Given the description of an element on the screen output the (x, y) to click on. 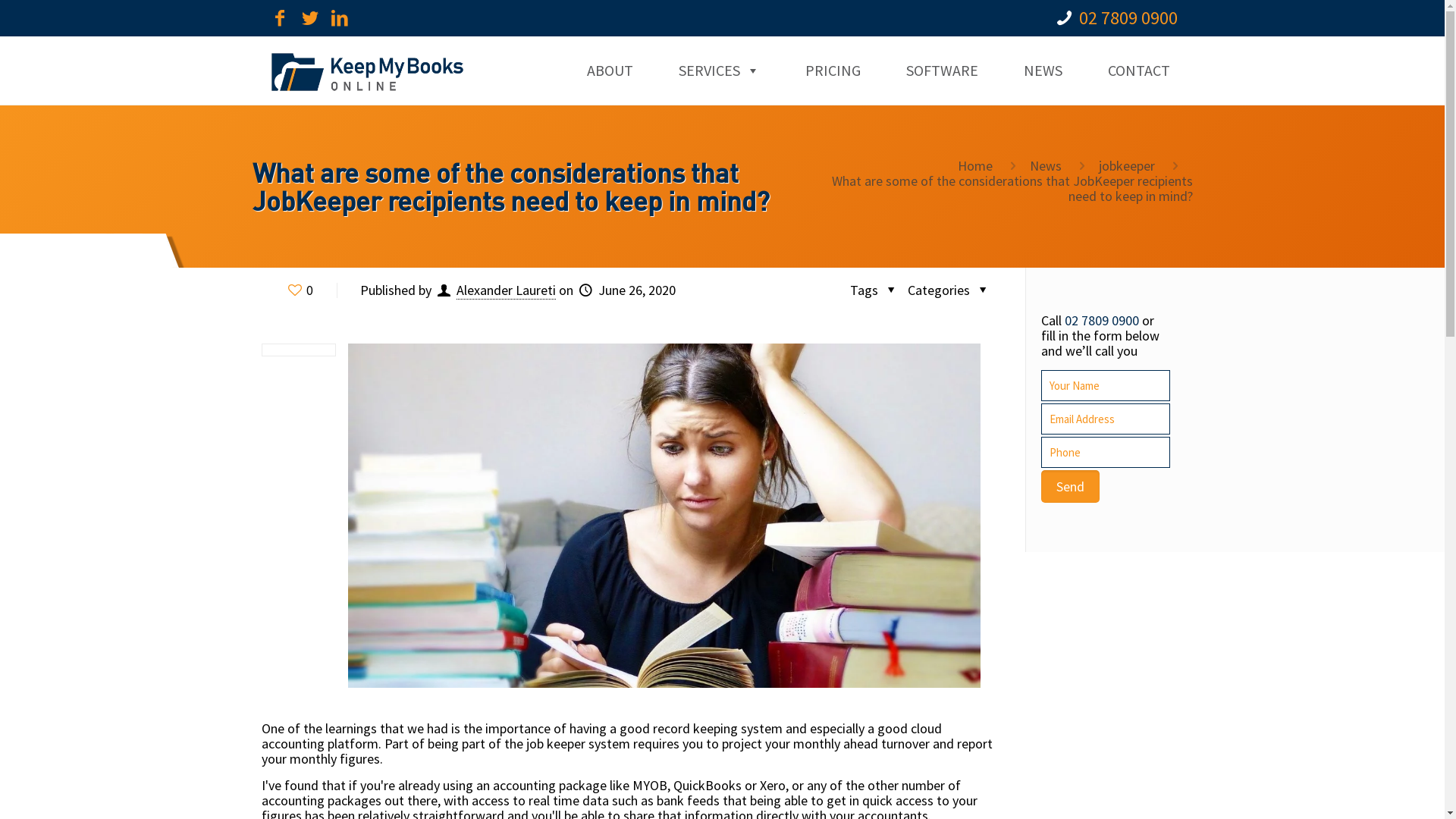
Twitter Element type: hover (310, 19)
KeepMyBooksOnline Element type: hover (366, 70)
0 Element type: text (298, 290)
Send Element type: text (1069, 486)
NEWS Element type: text (1043, 70)
SERVICES Element type: text (718, 70)
News Element type: text (1045, 165)
CONTACT Element type: text (1138, 70)
jobkeeper Element type: text (1126, 165)
PRICING Element type: text (832, 70)
02 7809 0900 Element type: text (1101, 320)
LinkedIn Element type: hover (340, 19)
Alexander Laureti Element type: text (505, 290)
02 7809 0900 Element type: text (1127, 17)
ABOUT Element type: text (609, 70)
SOFTWARE Element type: text (941, 70)
Facebook Element type: hover (279, 19)
Home Element type: text (974, 165)
